Given the description of an element on the screen output the (x, y) to click on. 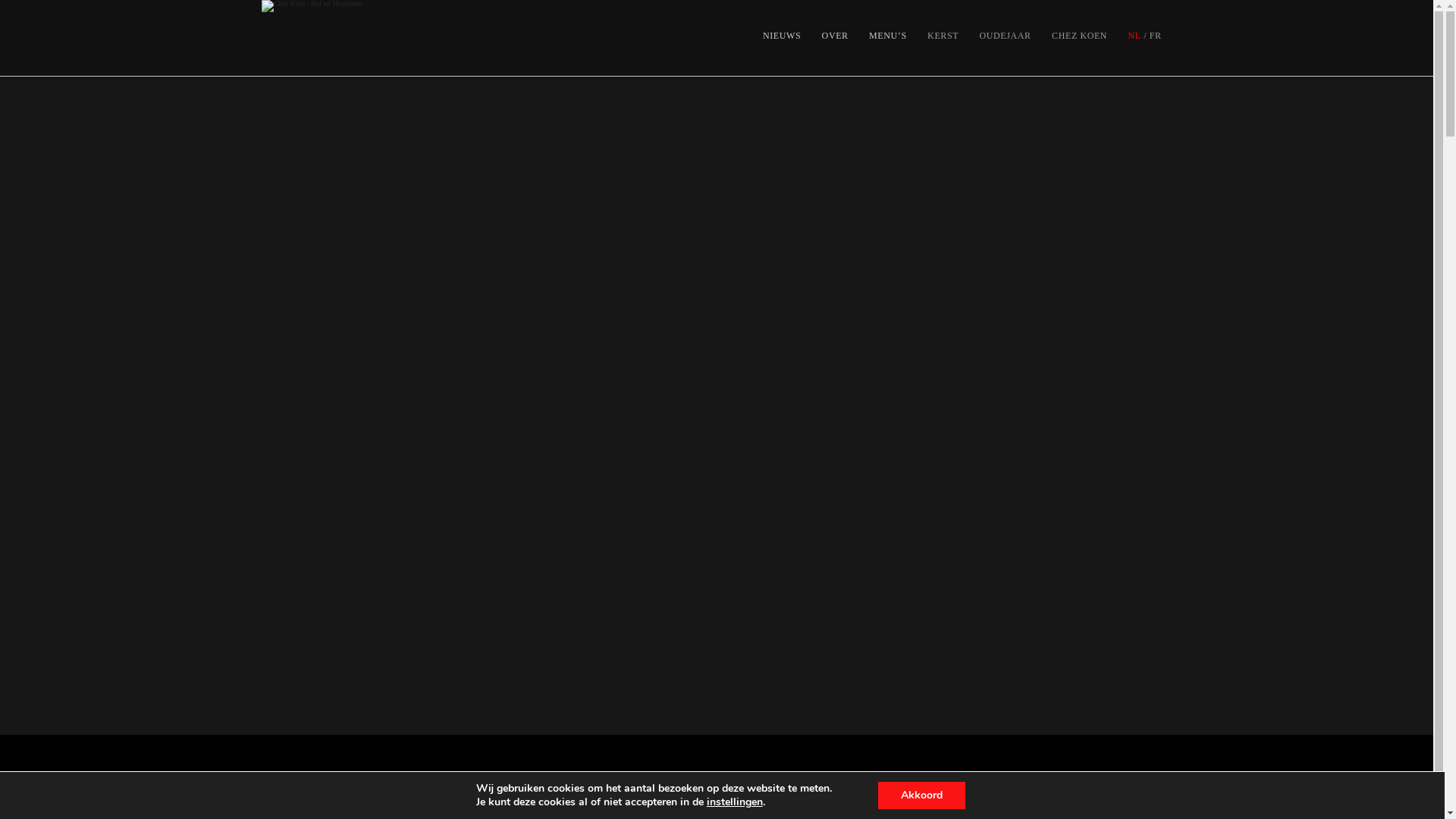
OUDEJAAR Element type: text (1005, 37)
OVER Element type: text (834, 37)
NL Element type: text (1129, 37)
NIEUWS Element type: text (781, 37)
Akkoord Element type: text (921, 795)
instellingen Element type: text (734, 802)
KERST Element type: text (942, 37)
CHEZ KOEN Element type: text (1079, 37)
FR Element type: text (1156, 37)
